Given the description of an element on the screen output the (x, y) to click on. 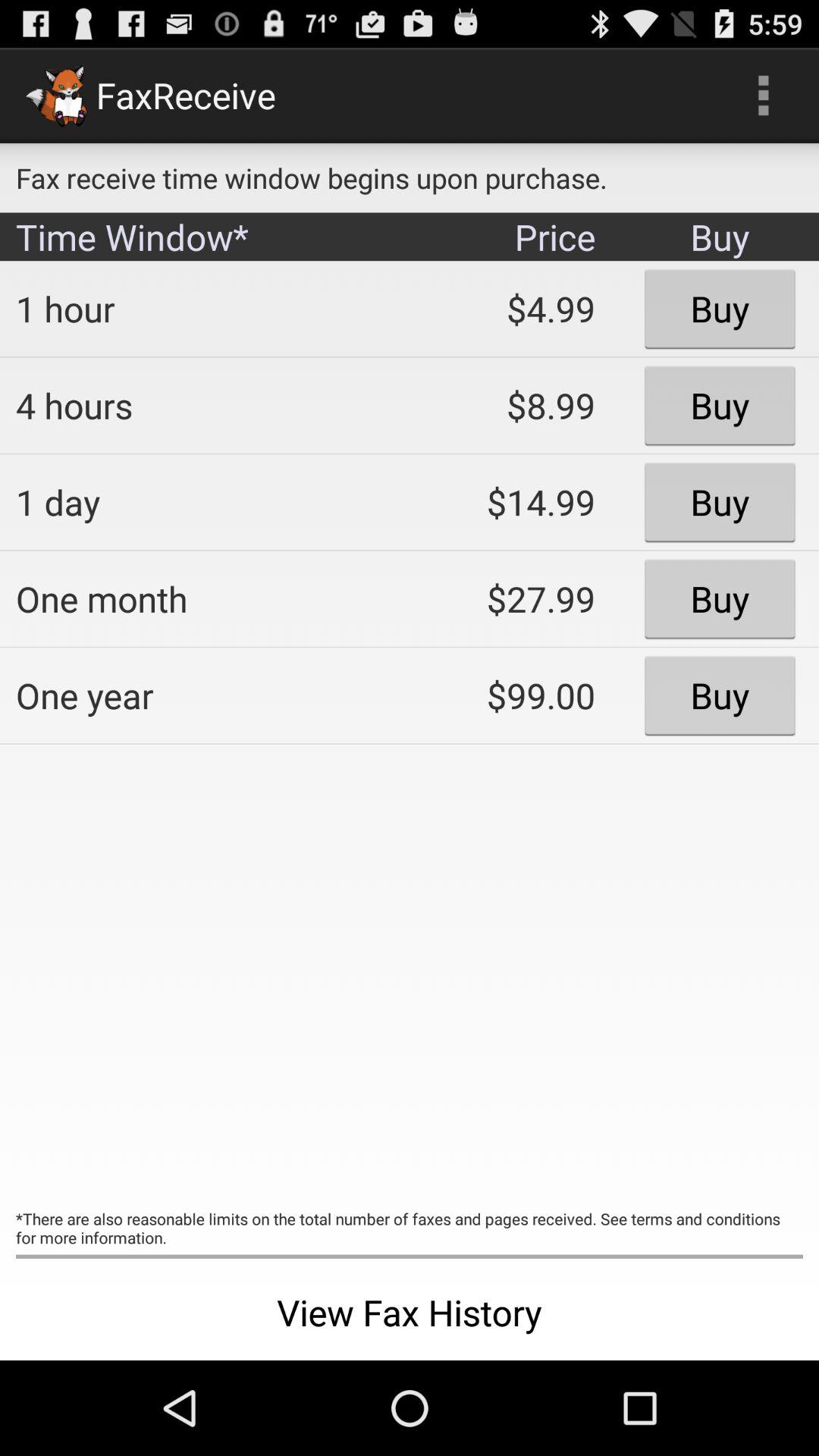
press the icon next to $4.99 icon (201, 405)
